Given the description of an element on the screen output the (x, y) to click on. 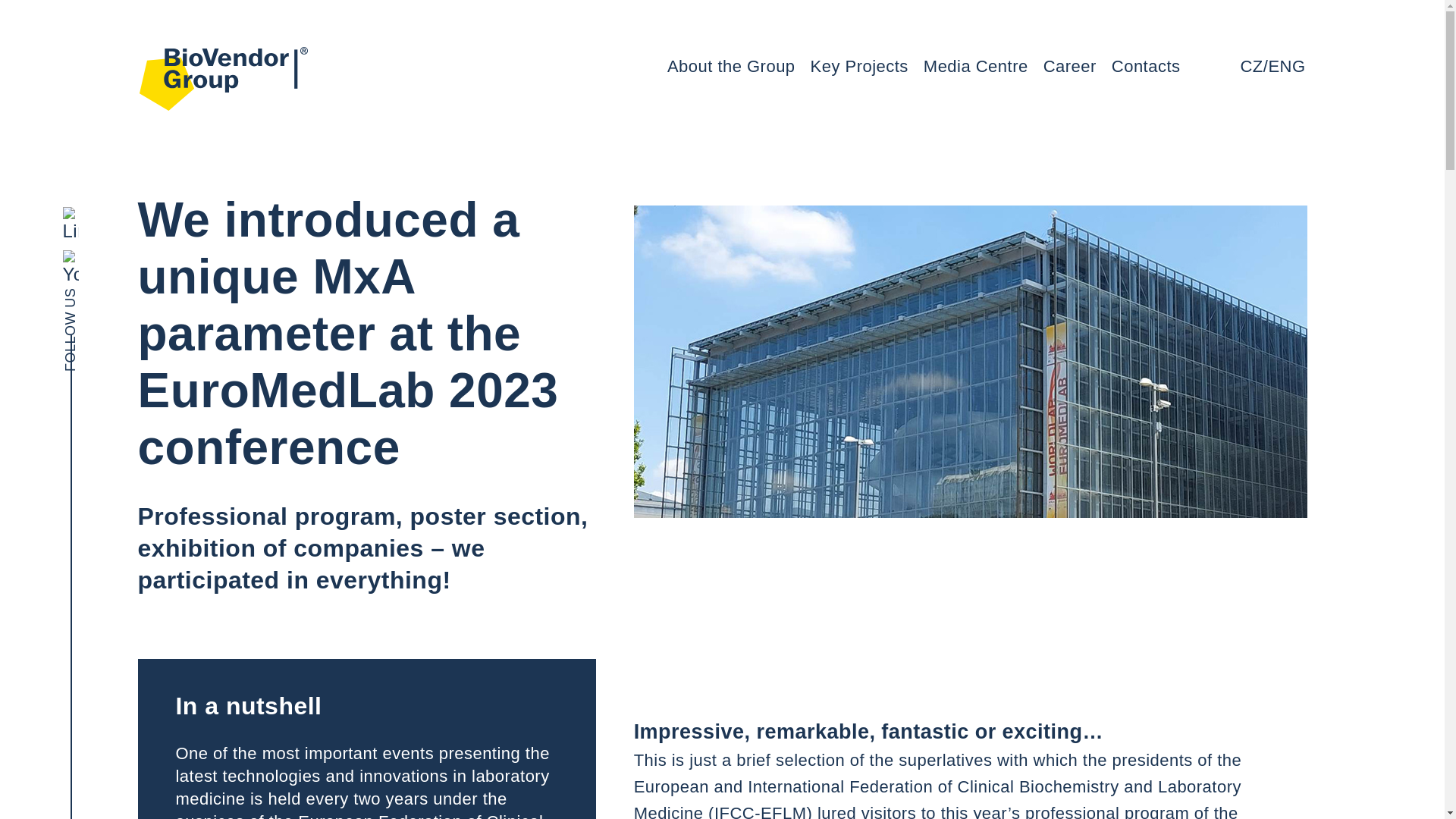
About the Group (730, 66)
Media Centre (975, 66)
ENG (1286, 66)
Key Projects (859, 66)
CZ (1251, 66)
Career (1069, 66)
Contacts (1146, 66)
Search (1221, 66)
